Given the description of an element on the screen output the (x, y) to click on. 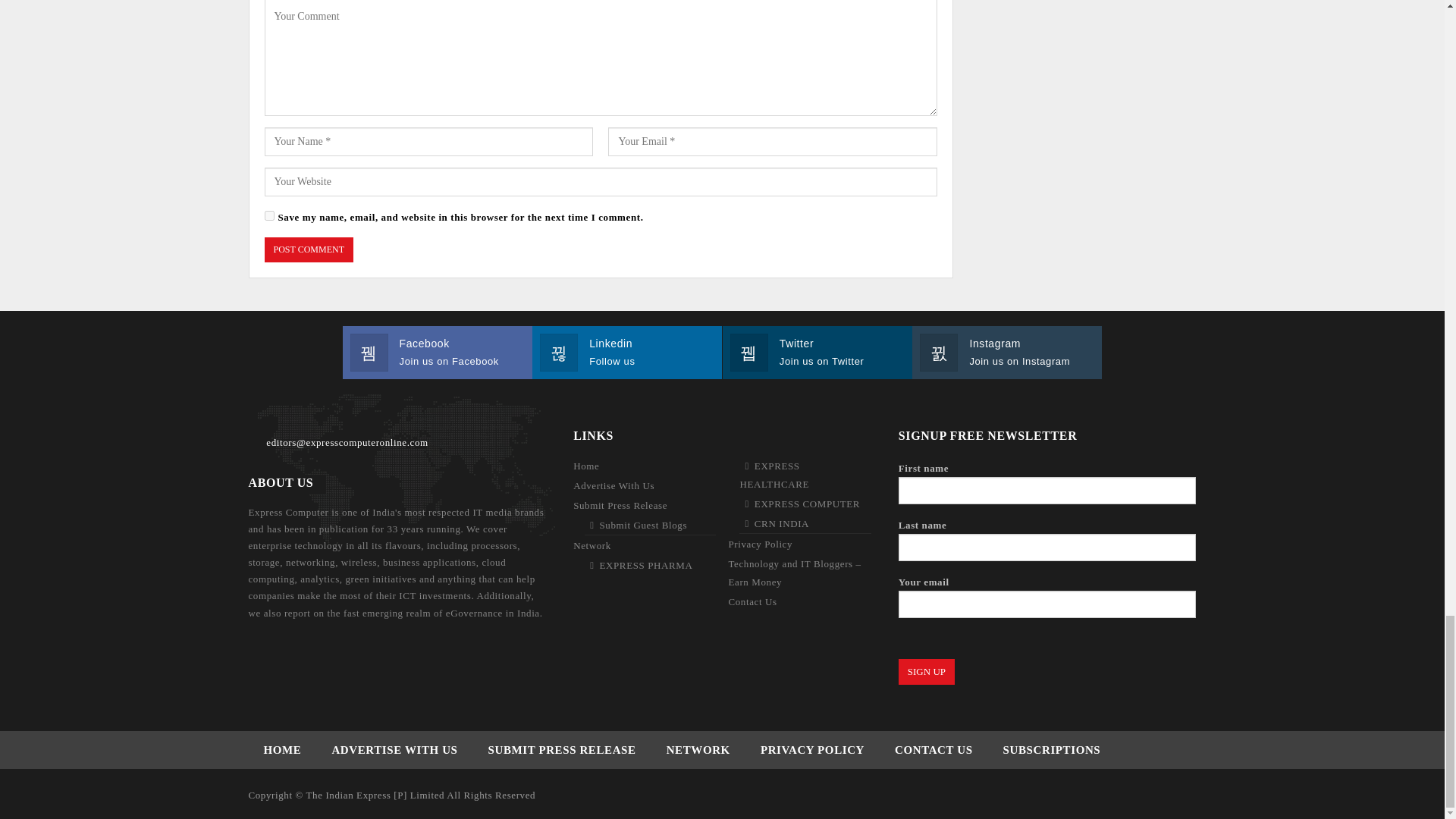
Post Comment (307, 249)
yes (268, 215)
Sign Up (926, 671)
